Given the description of an element on the screen output the (x, y) to click on. 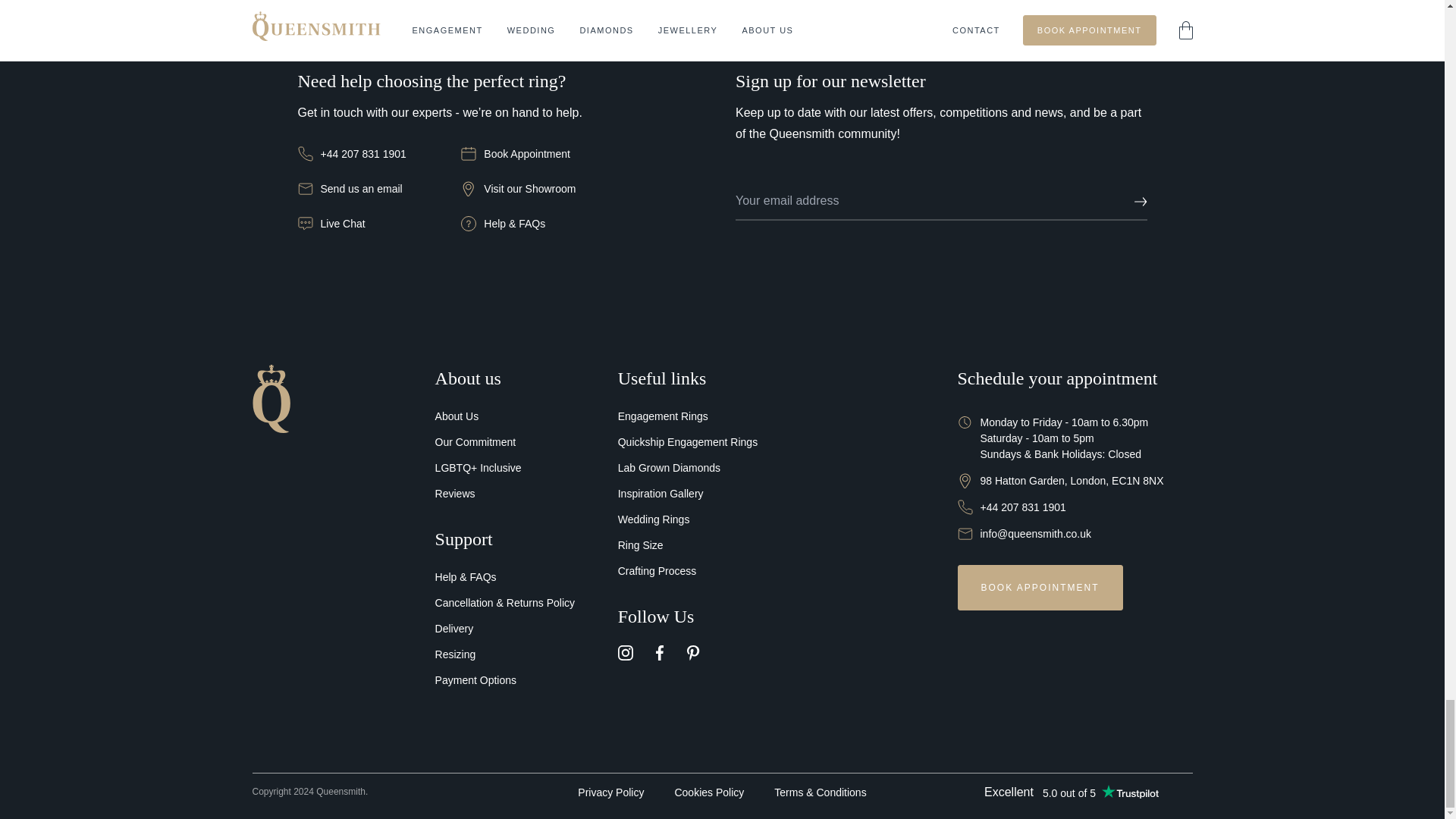
Find us on Instagram (625, 652)
